Given the description of an element on the screen output the (x, y) to click on. 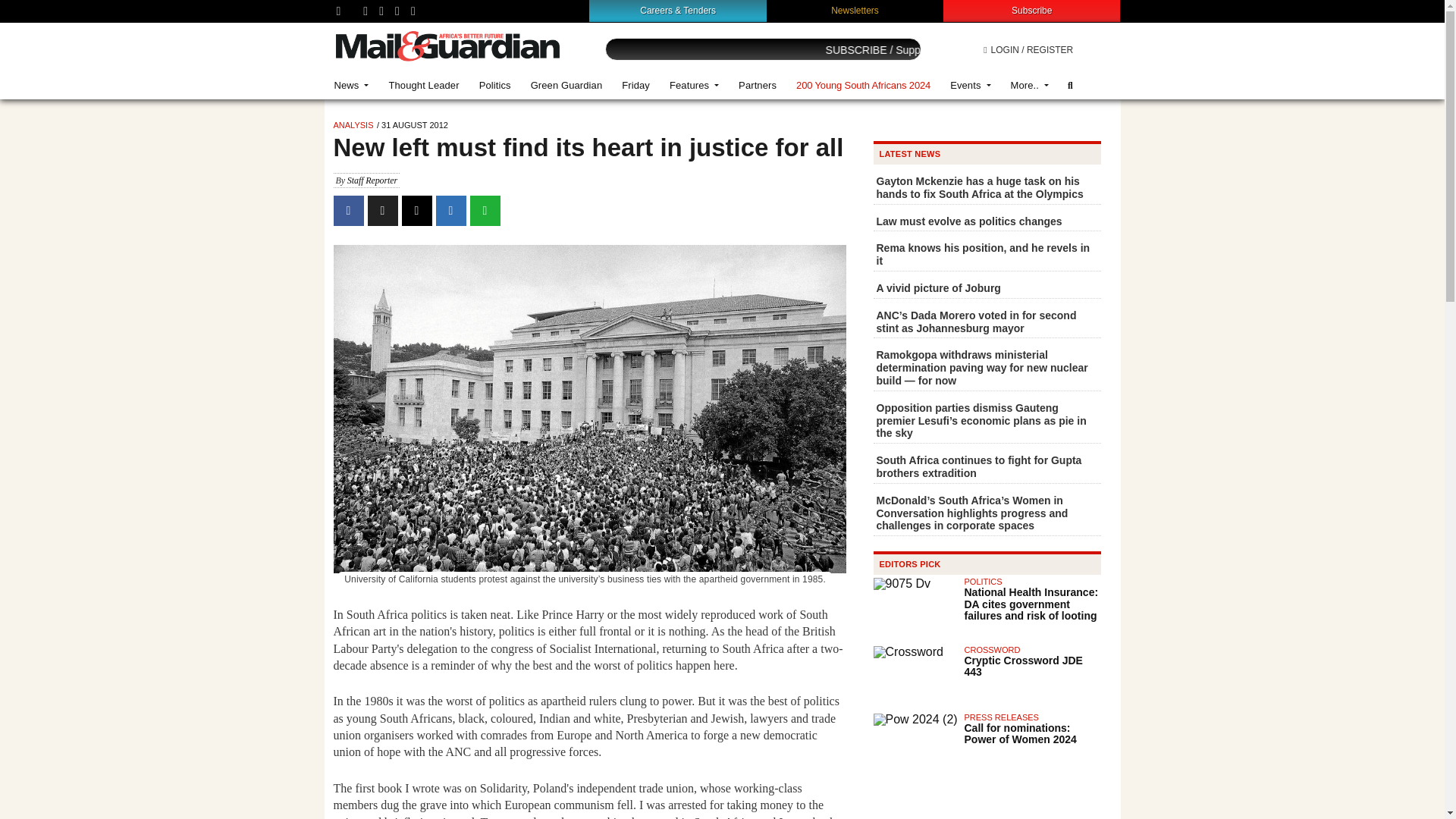
News (351, 85)
Friday (635, 85)
Subscribe (1031, 9)
Newsletters (855, 9)
Politics (494, 85)
Green Guardian (566, 85)
News (351, 85)
Thought Leader (423, 85)
Features (694, 85)
